Given the description of an element on the screen output the (x, y) to click on. 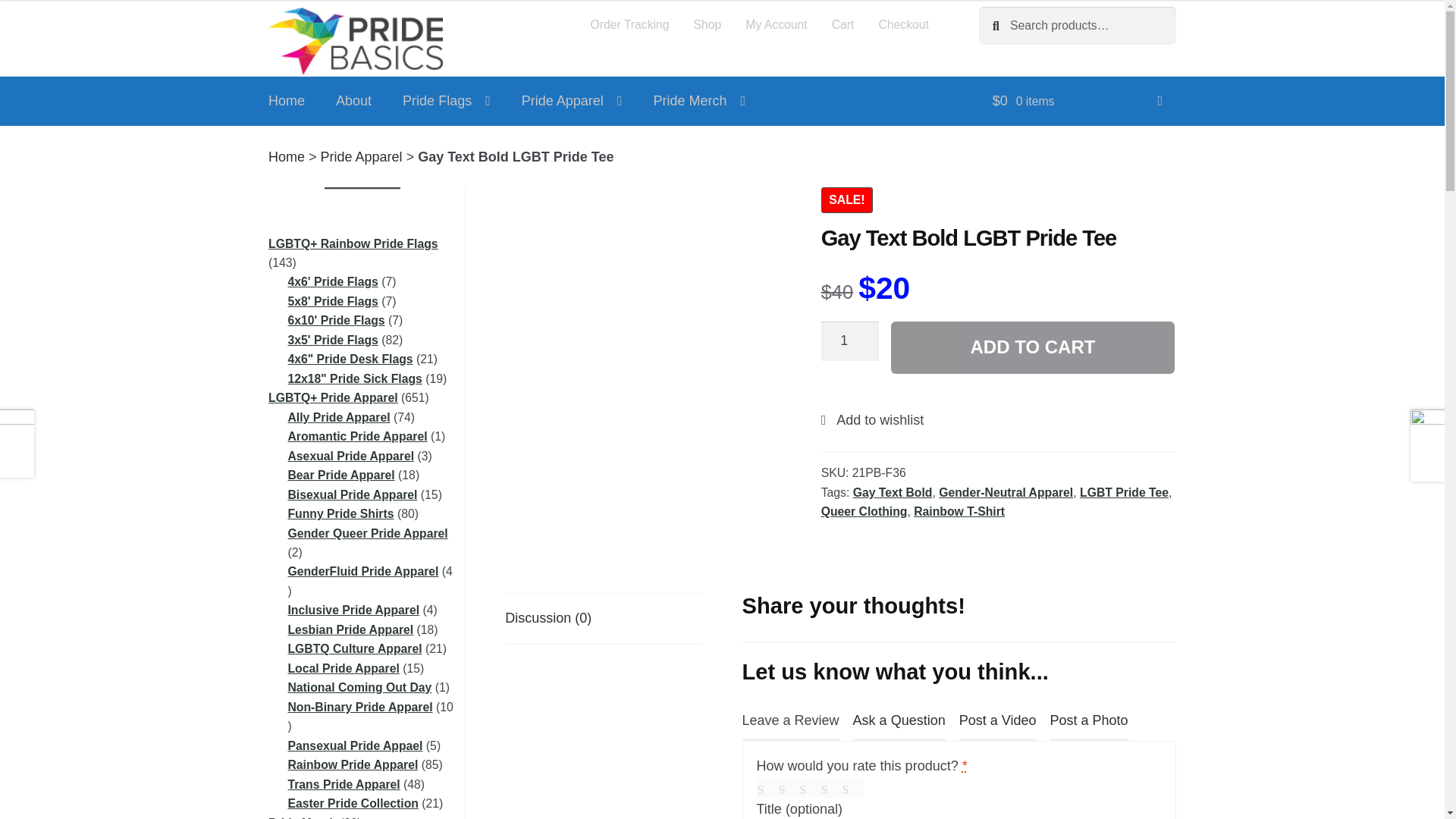
My Account (776, 24)
Shop (707, 24)
Checkout (903, 24)
View your shopping cart (1077, 101)
Pride Flags (445, 101)
Pride Apparel (572, 101)
Home (286, 101)
1 (850, 340)
